Given the description of an element on the screen output the (x, y) to click on. 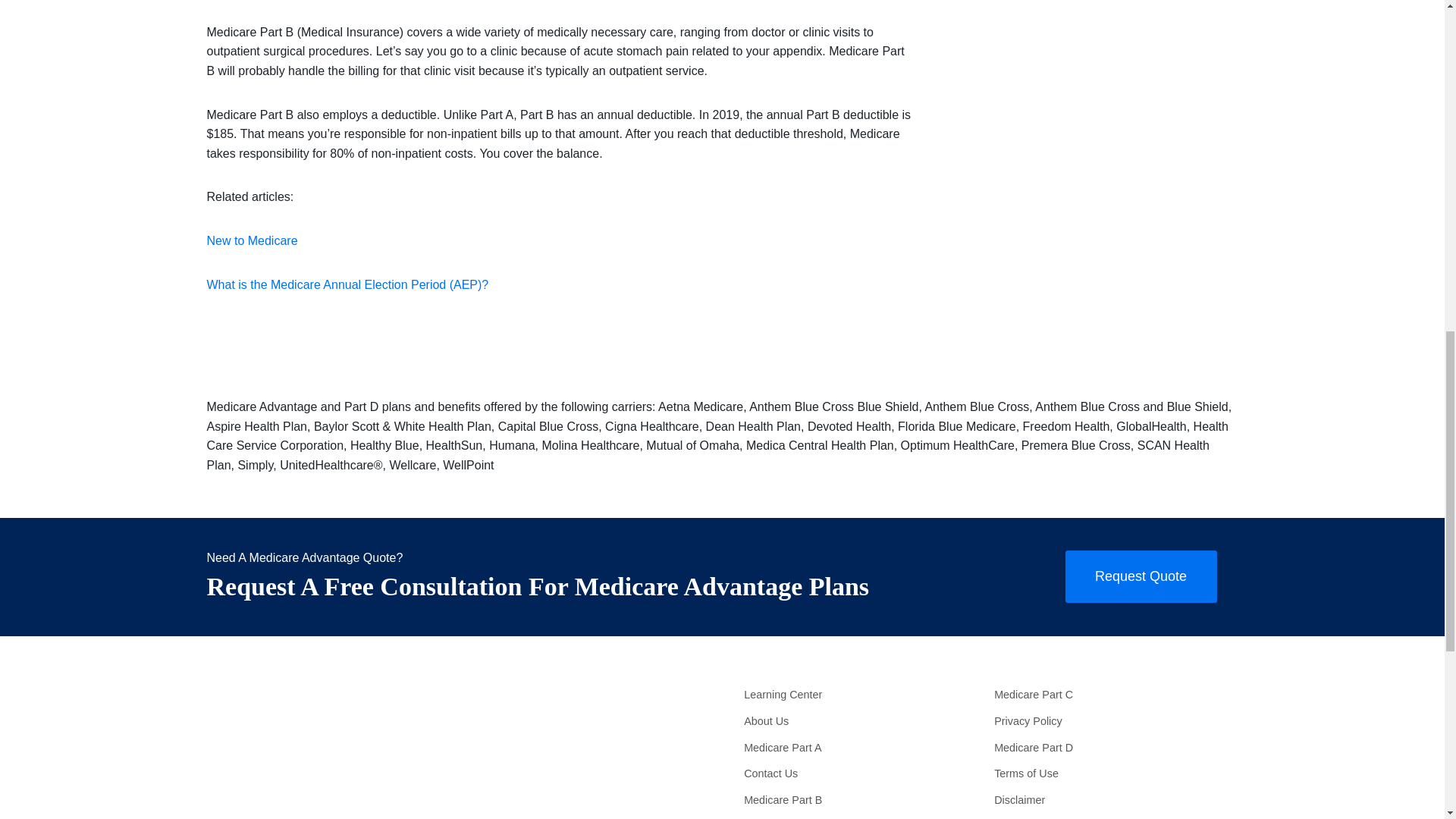
Terms of Use (1112, 773)
Learning Center (861, 694)
Privacy Policy (1112, 721)
About Us (861, 721)
Medicare Part D (1112, 746)
Medicare Part C (1112, 694)
Request Quote (1139, 576)
Contact Us (861, 773)
Medicare Part B (861, 800)
Medicare Part A (861, 746)
New to Medicare (251, 240)
